Given the description of an element on the screen output the (x, y) to click on. 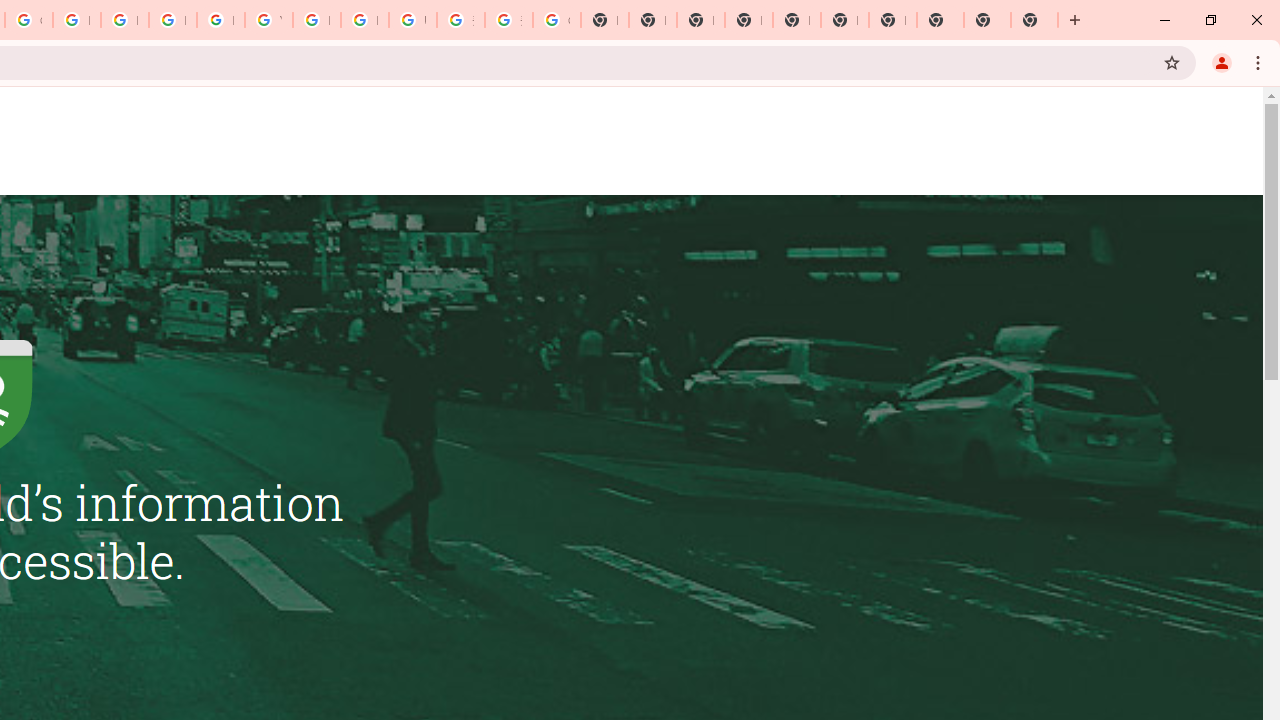
Privacy Help Center - Policies Help (76, 20)
New Tab (748, 20)
Privacy Help Center - Policies Help (124, 20)
Google Images (556, 20)
